Given the description of an element on the screen output the (x, y) to click on. 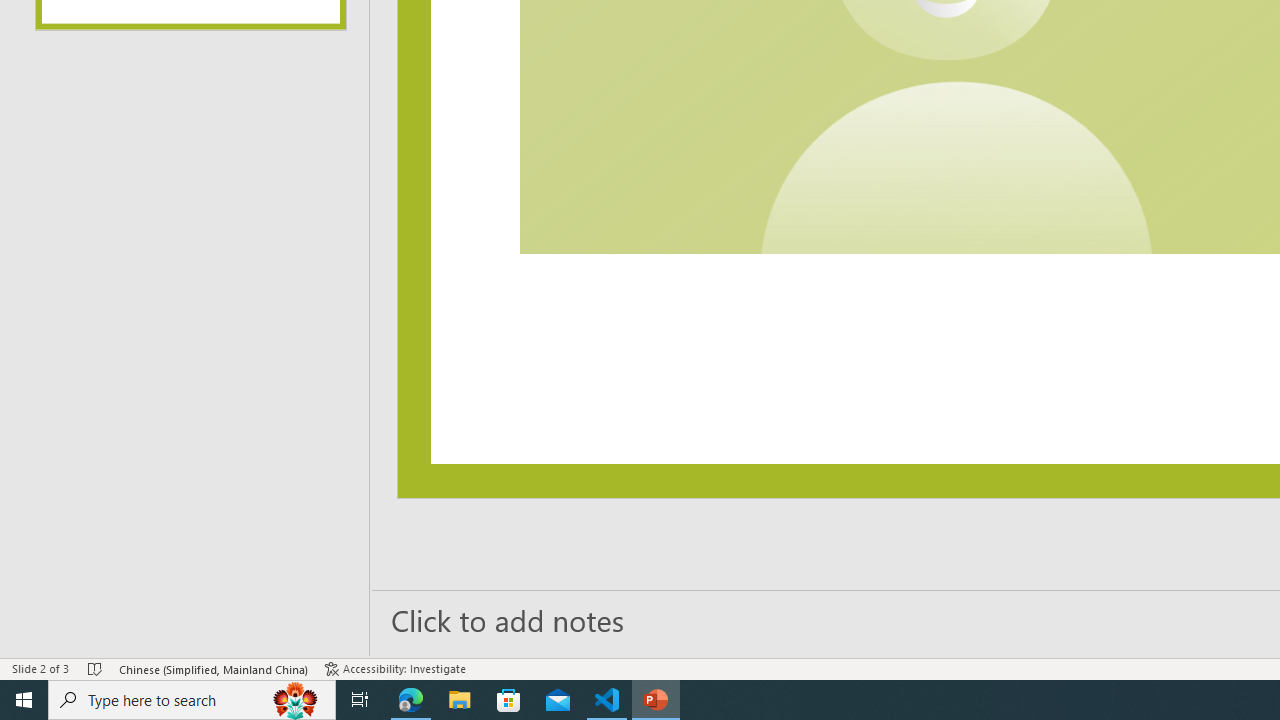
Accessibility Checker Accessibility: Investigate (395, 668)
Spell Check No Errors (95, 668)
